Given the description of an element on the screen output the (x, y) to click on. 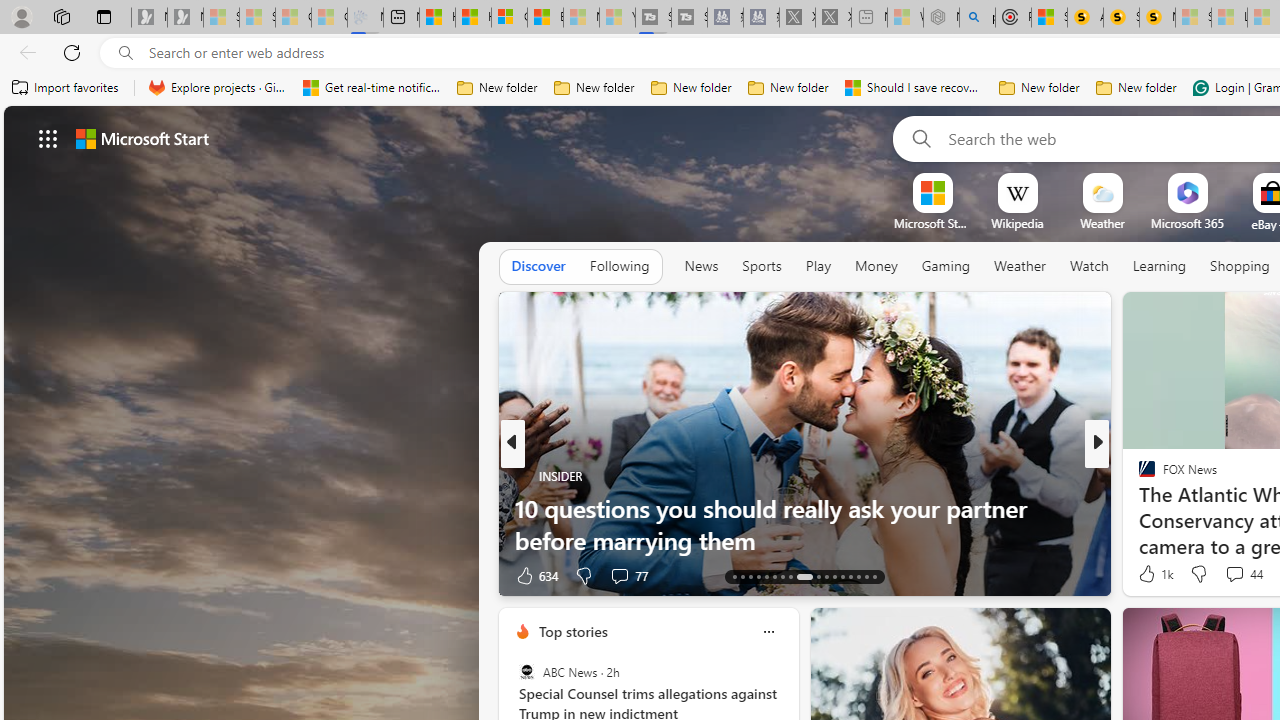
AutomationID: tab-18 (774, 576)
AutomationID: tab-23 (825, 576)
Overview (509, 17)
Play (817, 265)
View comments 3 Comment (1229, 575)
The Weather Channel (1138, 475)
Microsoft Start - Sleeping (581, 17)
